Given the description of an element on the screen output the (x, y) to click on. 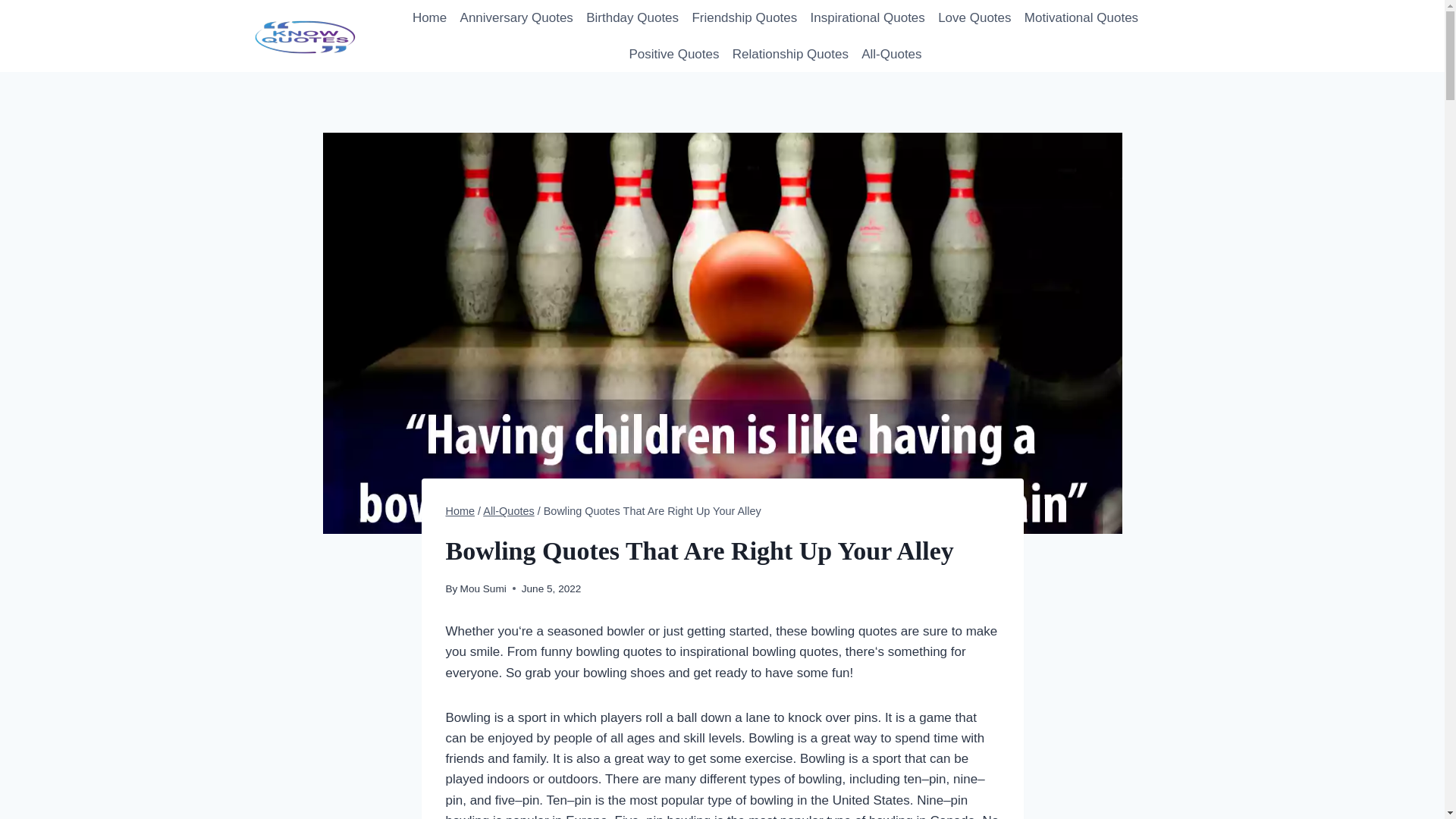
Mou Sumi (483, 588)
Motivational Quotes (1080, 18)
Relationship Quotes (789, 54)
All-Quotes (892, 54)
Love Quotes (974, 18)
All-Quotes (508, 510)
Home (460, 510)
Birthday Quotes (632, 18)
Positive Quotes (674, 54)
Inspirational Quotes (867, 18)
